Given the description of an element on the screen output the (x, y) to click on. 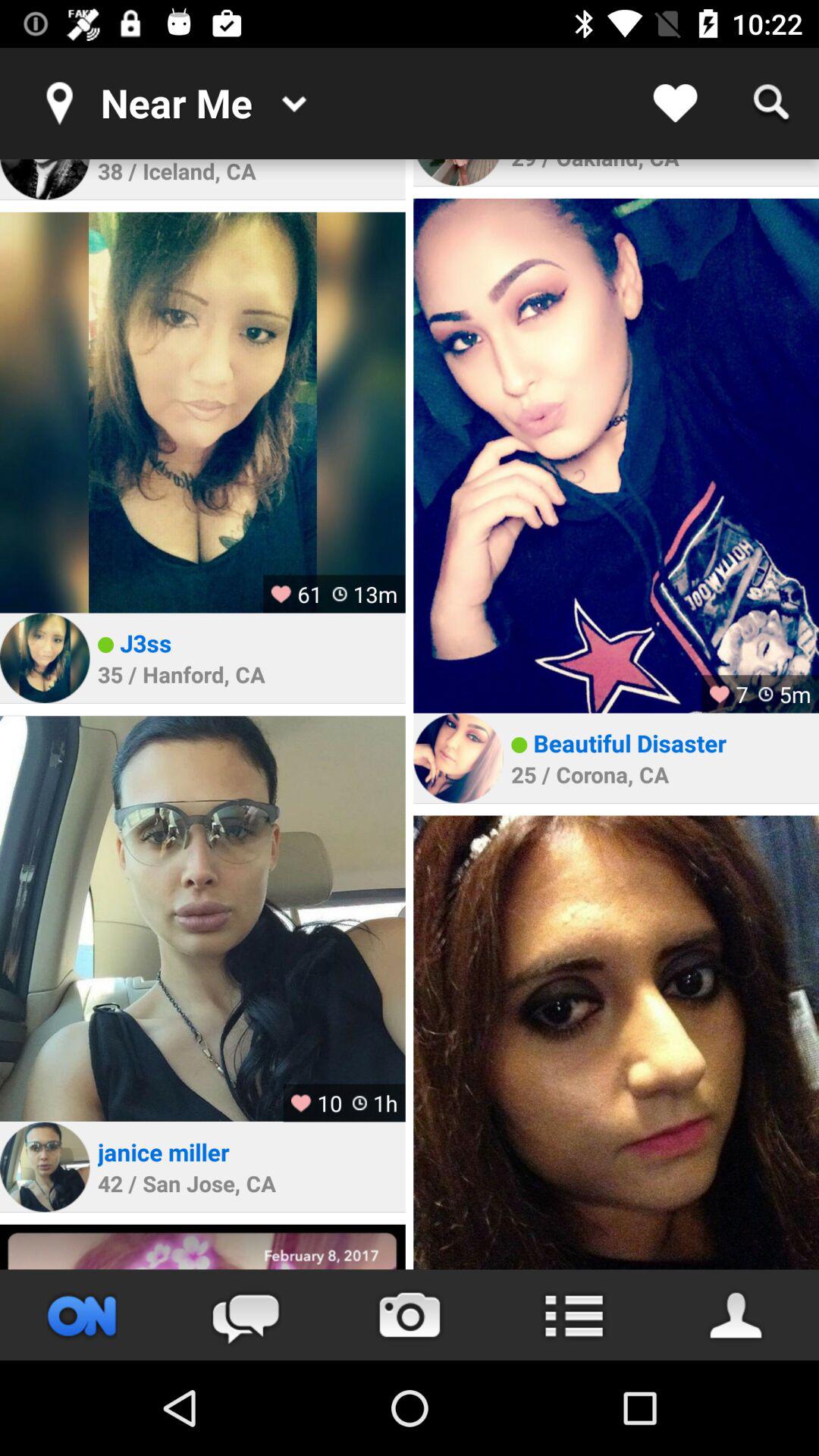
view profile (44, 179)
